Given the description of an element on the screen output the (x, y) to click on. 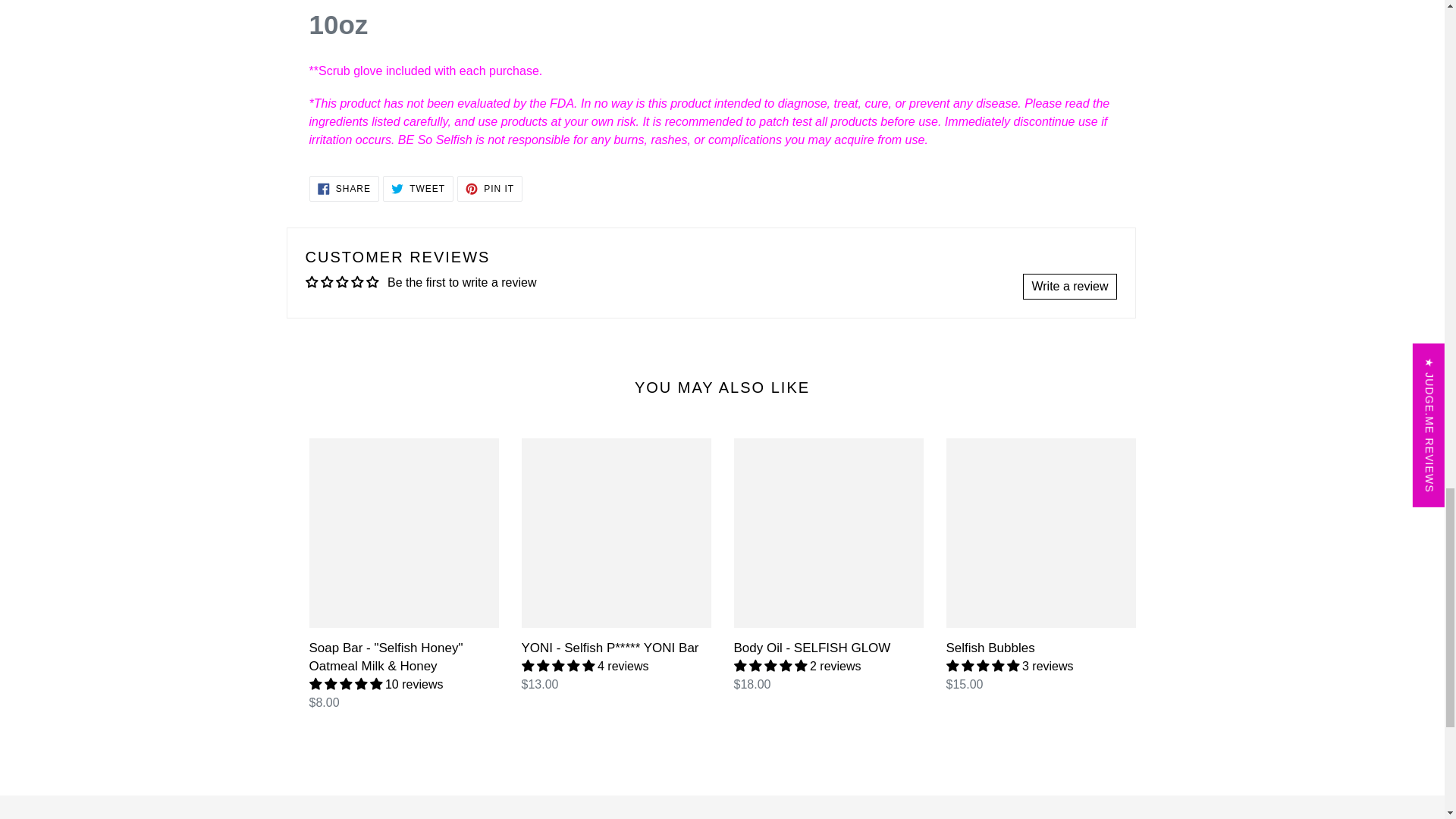
Write a review (1069, 286)
Selfish Bubbles (489, 188)
Body Oil - SELFISH GLOW (343, 188)
